Given the description of an element on the screen output the (x, y) to click on. 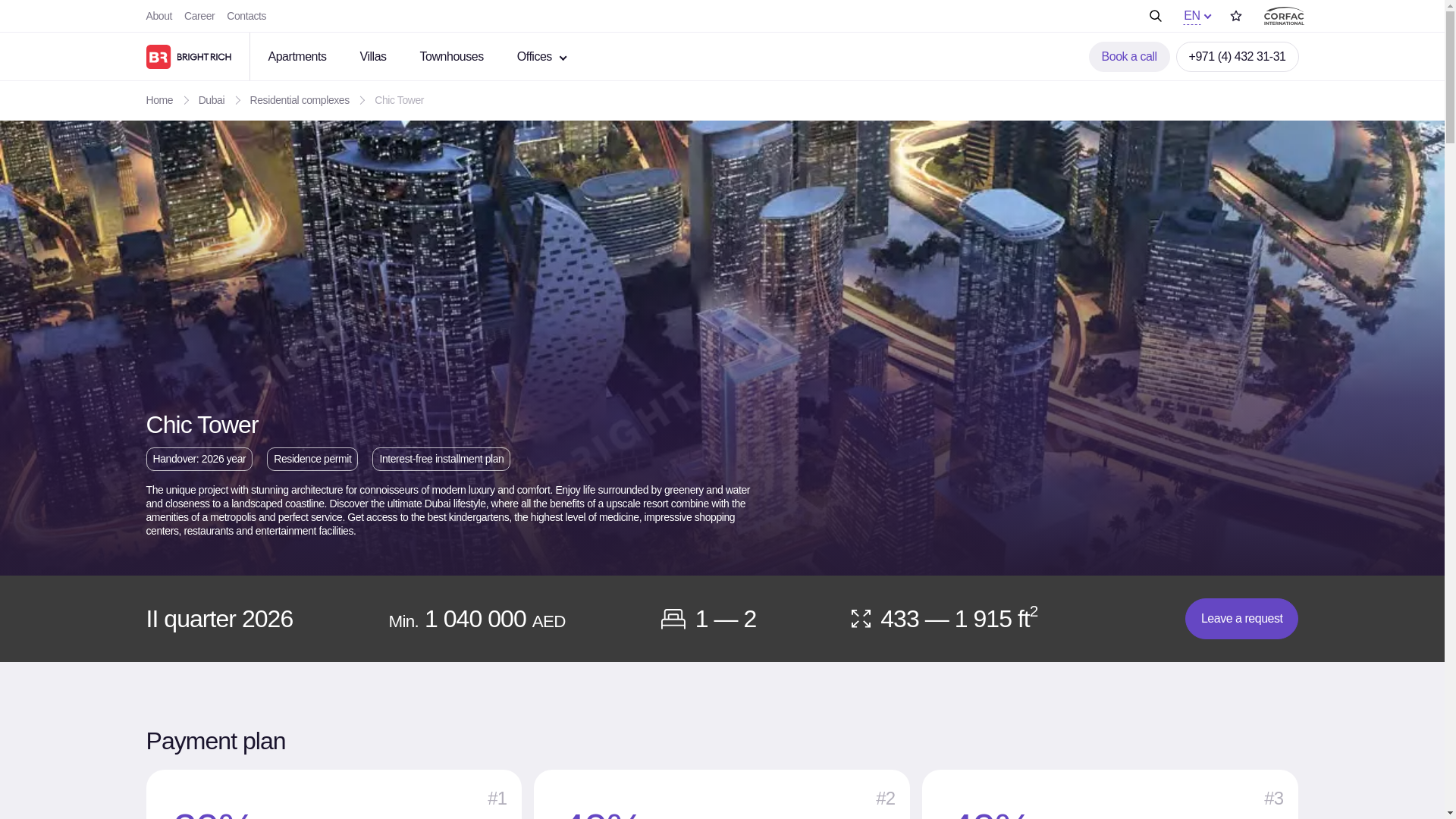
Contacts (246, 15)
Home (159, 100)
Apartments (304, 56)
EN (1190, 16)
About (158, 15)
Leave a request (1241, 618)
Townhouses (459, 56)
Villas (380, 56)
Book a call (1129, 55)
Career (199, 15)
